Given the description of an element on the screen output the (x, y) to click on. 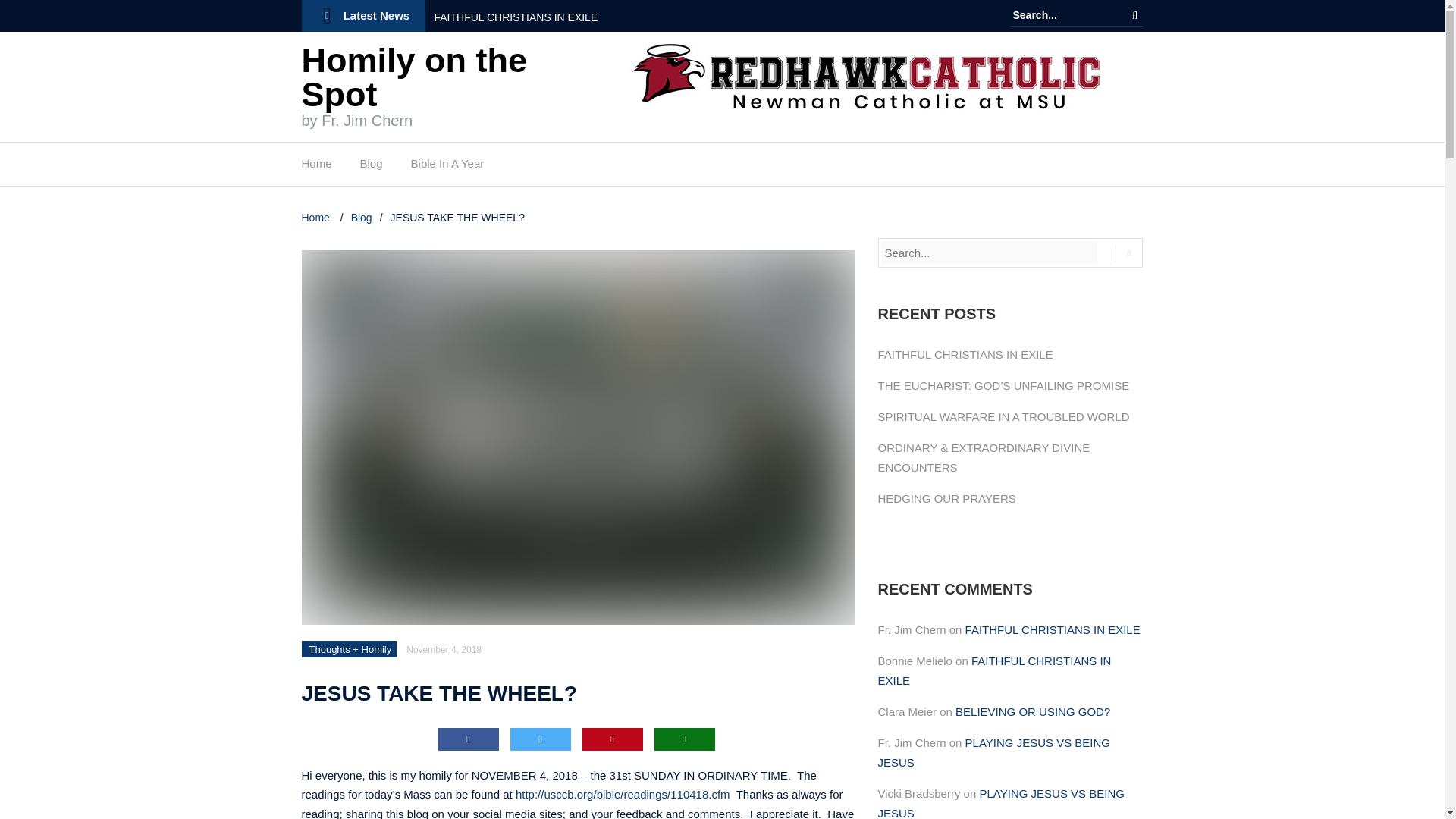
Homily on the Spot (414, 76)
FAITHFUL CHRISTIANS IN EXILE (526, 17)
Home (317, 217)
Home (316, 166)
Search   (1134, 14)
Blog (361, 217)
Bible In A Year (447, 166)
